Given the description of an element on the screen output the (x, y) to click on. 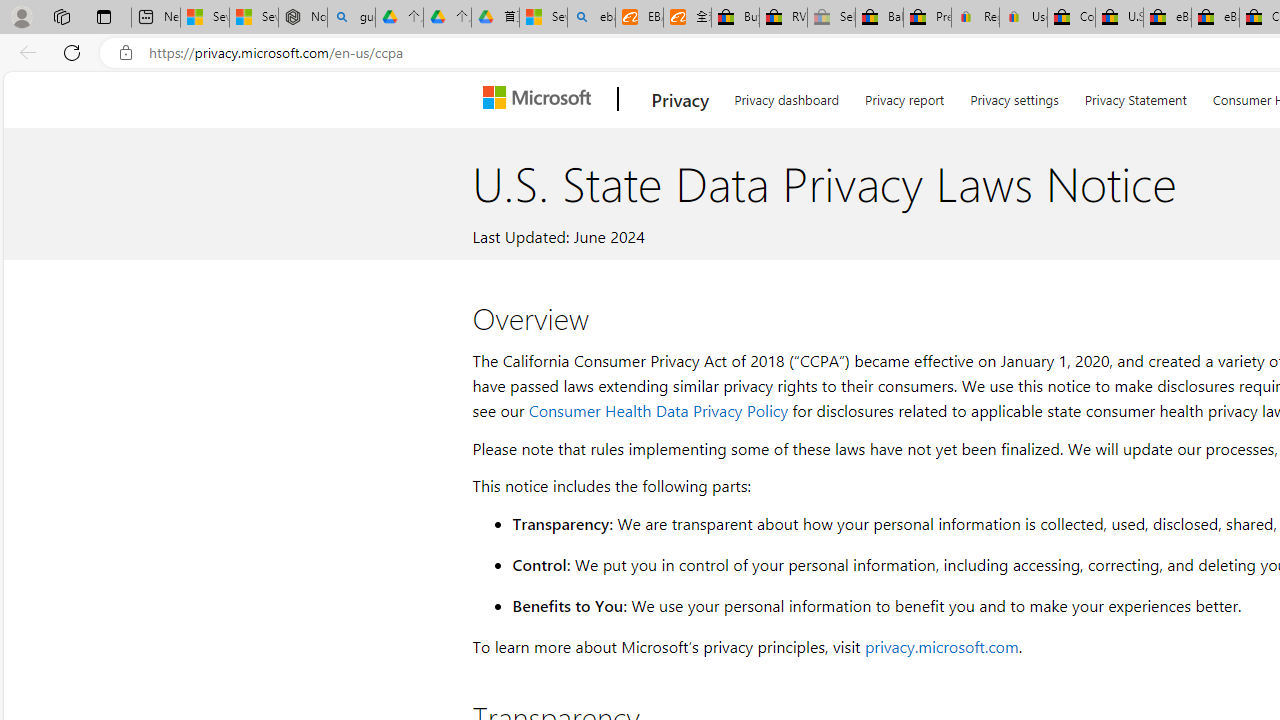
eBay Inc. Reports Third Quarter 2023 Results (1215, 17)
Privacy settings (1014, 96)
Sell worldwide with eBay - Sleeping (831, 17)
Press Room - eBay Inc. (927, 17)
RV, Trailer & Camper Steps & Ladders for sale | eBay (783, 17)
U.S. State Privacy Disclosures - eBay Inc. (1119, 17)
ebay - Search (591, 17)
Privacy (680, 99)
Privacy Statement (1135, 96)
View site information (125, 53)
Consumer Health Data Privacy Policy - eBay Inc. (1071, 17)
